Given the description of an element on the screen output the (x, y) to click on. 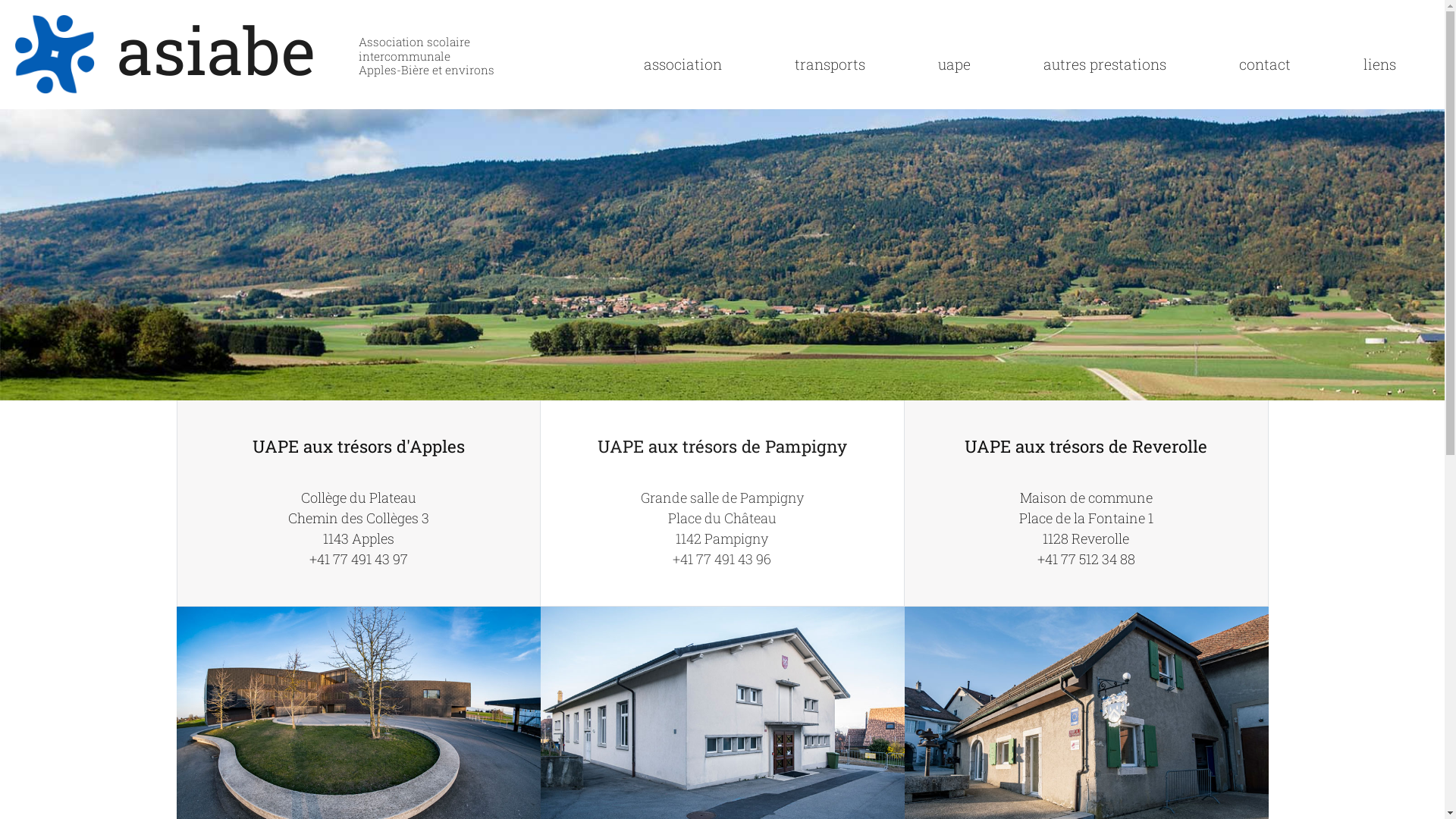
asiabe Element type: text (215, 49)
contact Element type: text (1264, 63)
liens Element type: text (1379, 63)
transports Element type: text (829, 63)
Logo de l'ASIABE Element type: hover (54, 54)
